Given the description of an element on the screen output the (x, y) to click on. 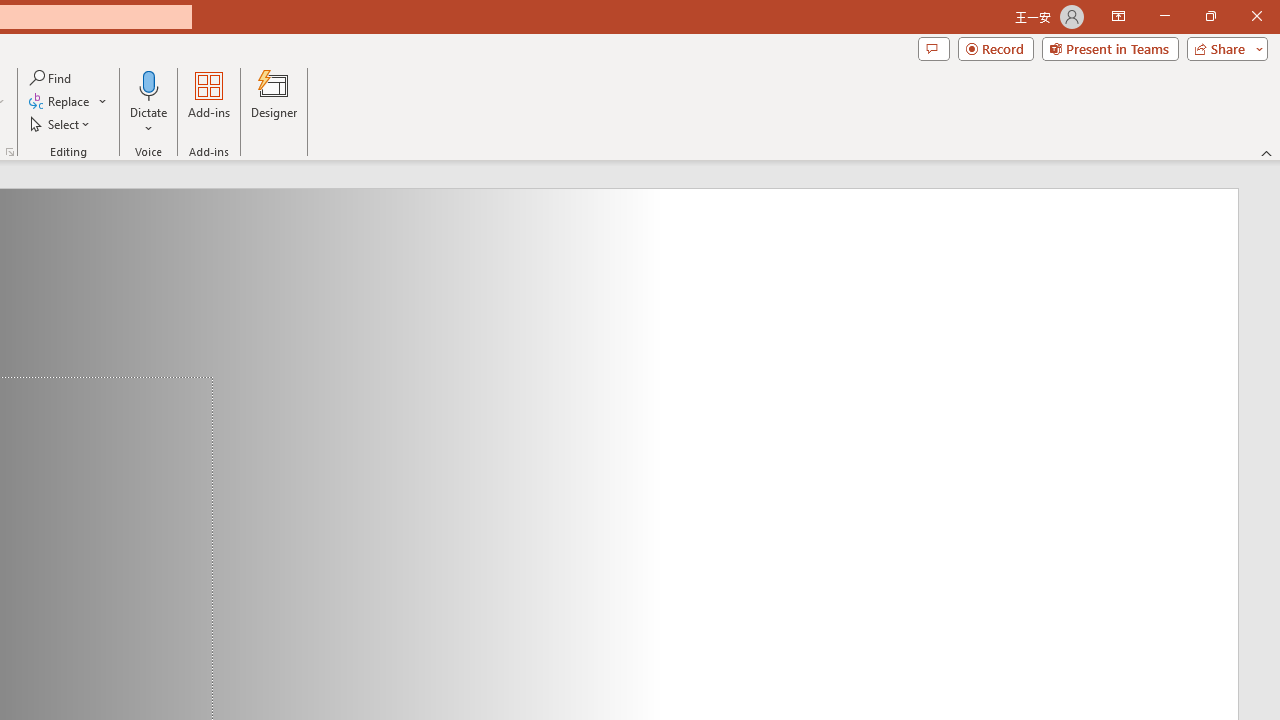
Dictate (149, 102)
Present in Teams (1109, 48)
Minimize (1164, 16)
Ribbon Display Options (1118, 16)
